Given the description of an element on the screen output the (x, y) to click on. 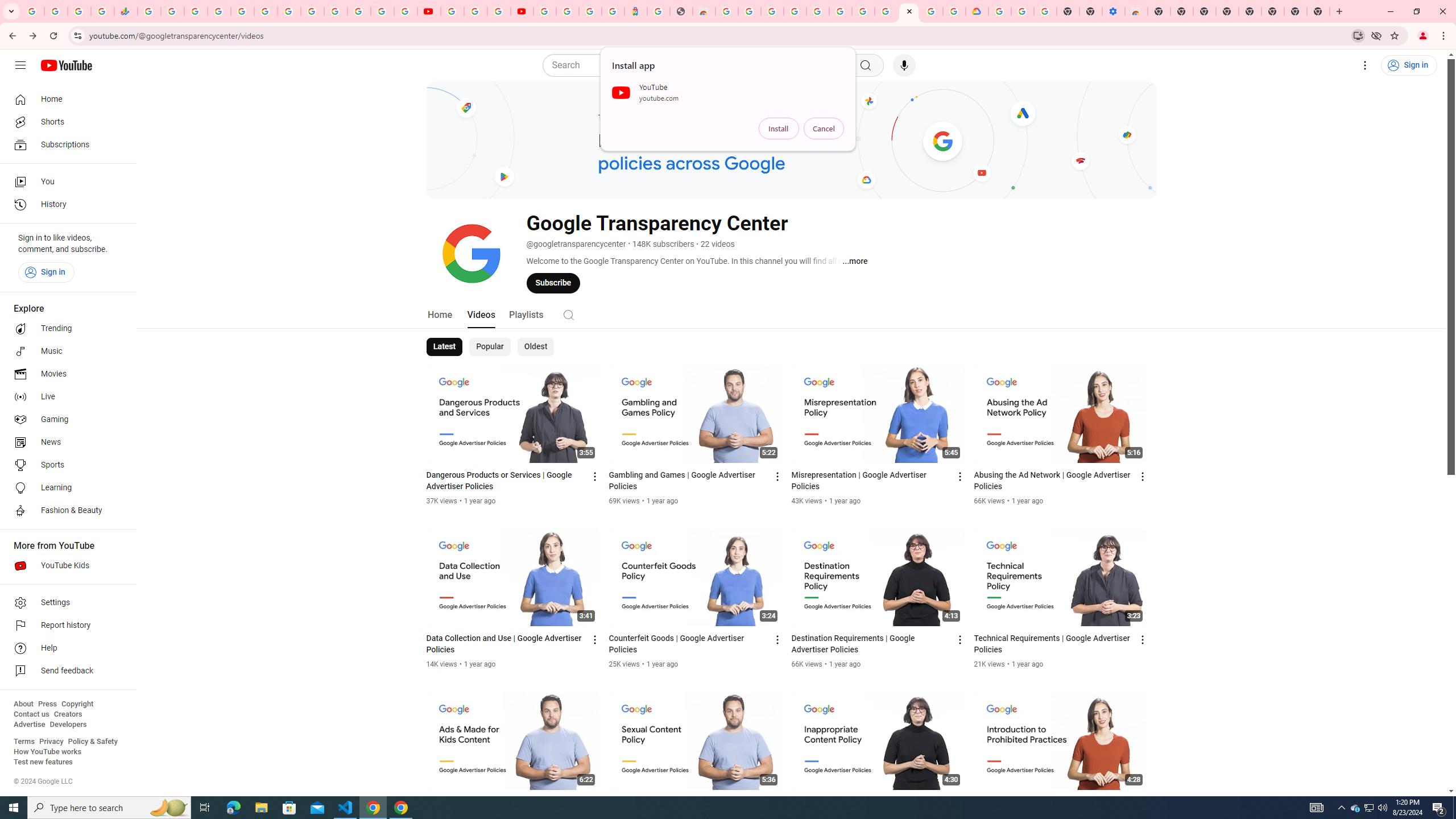
Creators (67, 714)
Sign in - Google Accounts (999, 11)
New Tab (1158, 11)
YouTube (312, 11)
Settings - Accessibility (1113, 11)
Search with your voice (903, 65)
YouTube (428, 11)
YouTube (451, 11)
Browse the Google Chrome Community - Google Chrome Community (954, 11)
Advertise (29, 724)
